Given the description of an element on the screen output the (x, y) to click on. 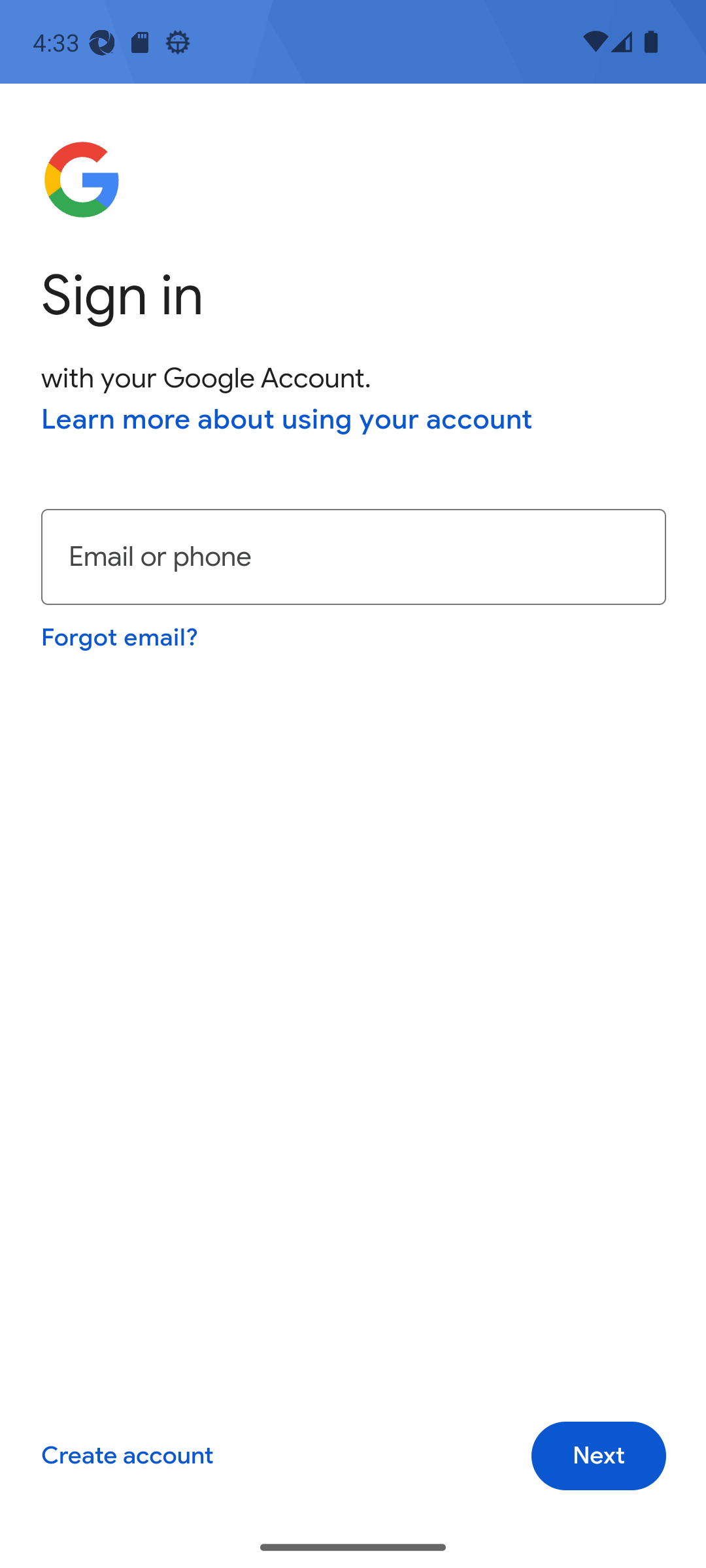
Learn more about using your account (286, 419)
Forgot email? (119, 635)
Create account (127, 1455)
Next (598, 1455)
